Given the description of an element on the screen output the (x, y) to click on. 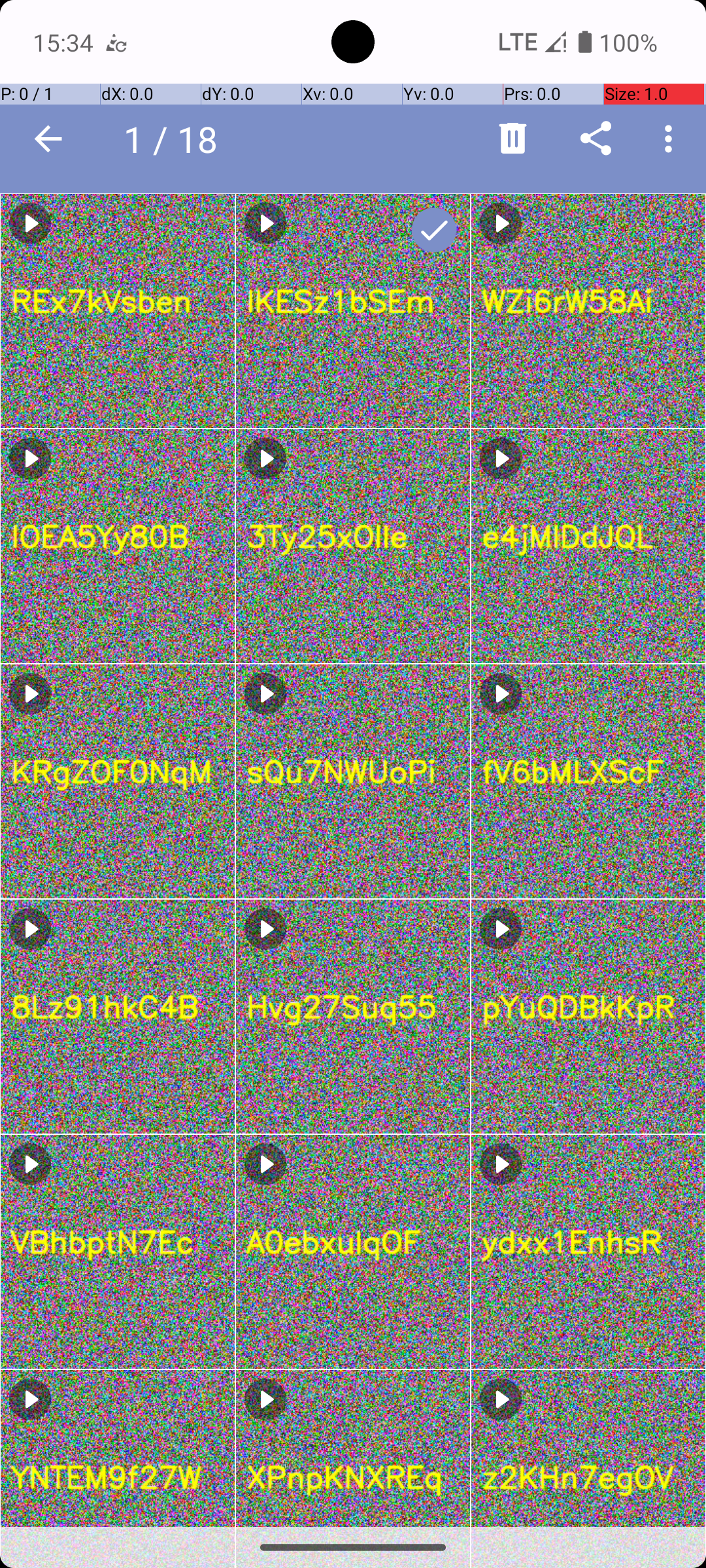
1 / 18 Element type: android.widget.TextView (177, 138)
Search in VLCVideos Element type: android.widget.EditText (252, 138)
